Given the description of an element on the screen output the (x, y) to click on. 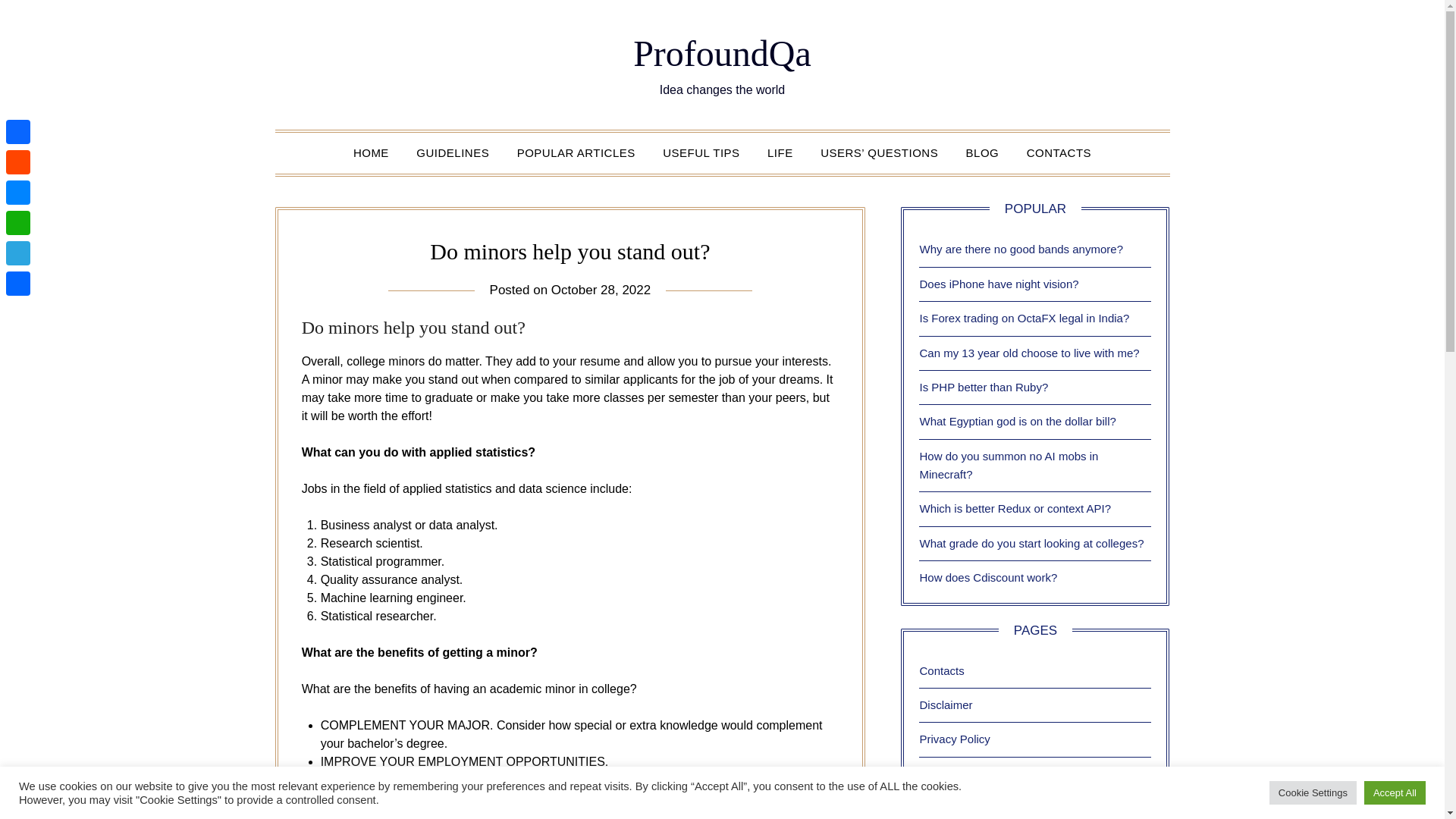
Privacy Policy (954, 738)
Disclaimer (945, 704)
BLOG (982, 152)
ProfoundQa (721, 53)
How do you summon no AI mobs in Minecraft? (1007, 464)
Is PHP better than Ruby? (983, 386)
Contacts (940, 670)
CONTACTS (1058, 152)
October 28, 2022 (600, 289)
LIFE (780, 152)
GUIDELINES (452, 152)
Facebook (17, 132)
USEFUL TIPS (700, 152)
Can my 13 year old choose to live with me? (1028, 351)
What grade do you start looking at colleges? (1030, 543)
